Given the description of an element on the screen output the (x, y) to click on. 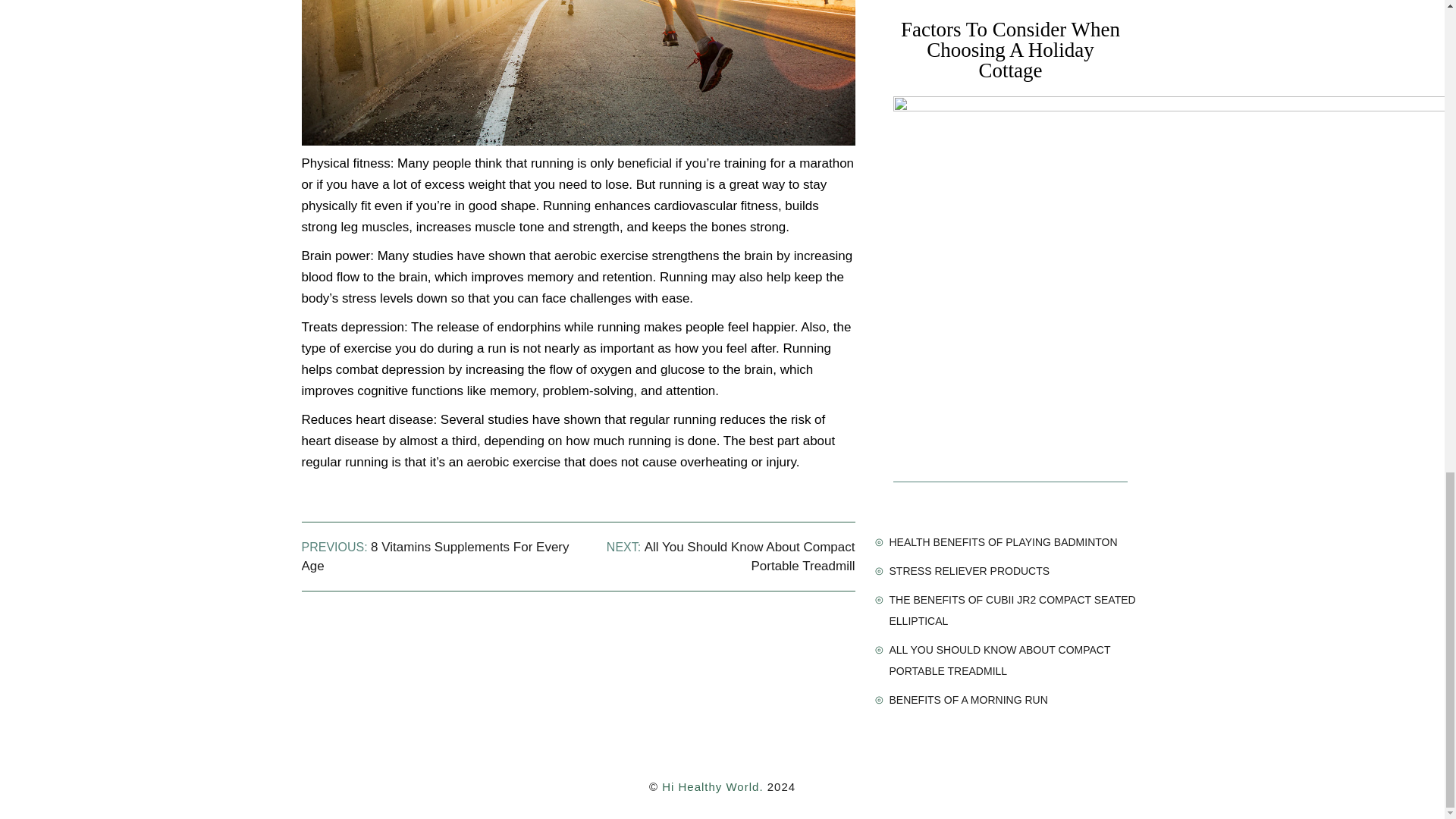
Hi Healthy World. (712, 786)
ALL YOU SHOULD KNOW ABOUT COMPACT PORTABLE TREADMILL (998, 660)
NEXT: All You Should Know About Compact Portable Treadmill (731, 556)
THE BENEFITS OF CUBII JR2 COMPACT SEATED ELLIPTICAL (1011, 610)
PREVIOUS: 8 Vitamins Supplements For Every Age (435, 556)
HEALTH BENEFITS OF PLAYING BADMINTON (1002, 541)
BENEFITS OF A MORNING RUN (967, 699)
STRESS RELIEVER PRODUCTS (968, 571)
Factors To Consider When Choosing A Holiday Cottage (1010, 49)
